Given the description of an element on the screen output the (x, y) to click on. 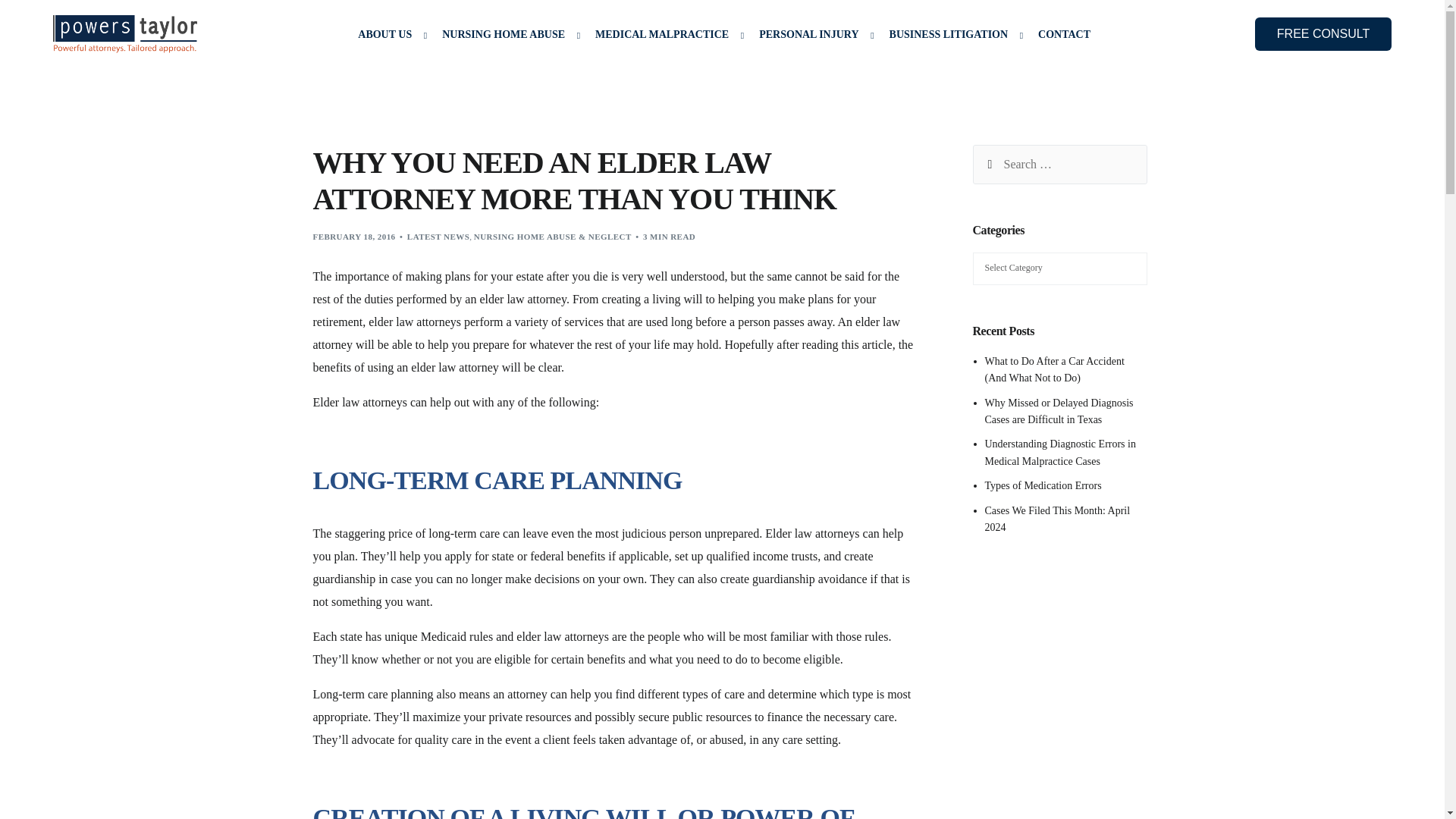
ABOUT US (388, 34)
PERSONAL INJURY (812, 34)
FREE CONSULT (1323, 33)
NURSING HOME ABUSE (506, 34)
BUSINESS LITIGATION (952, 34)
CONTACT (1064, 34)
MEDICAL MALPRACTICE (665, 34)
LATEST NEWS (437, 235)
